Given the description of an element on the screen output the (x, y) to click on. 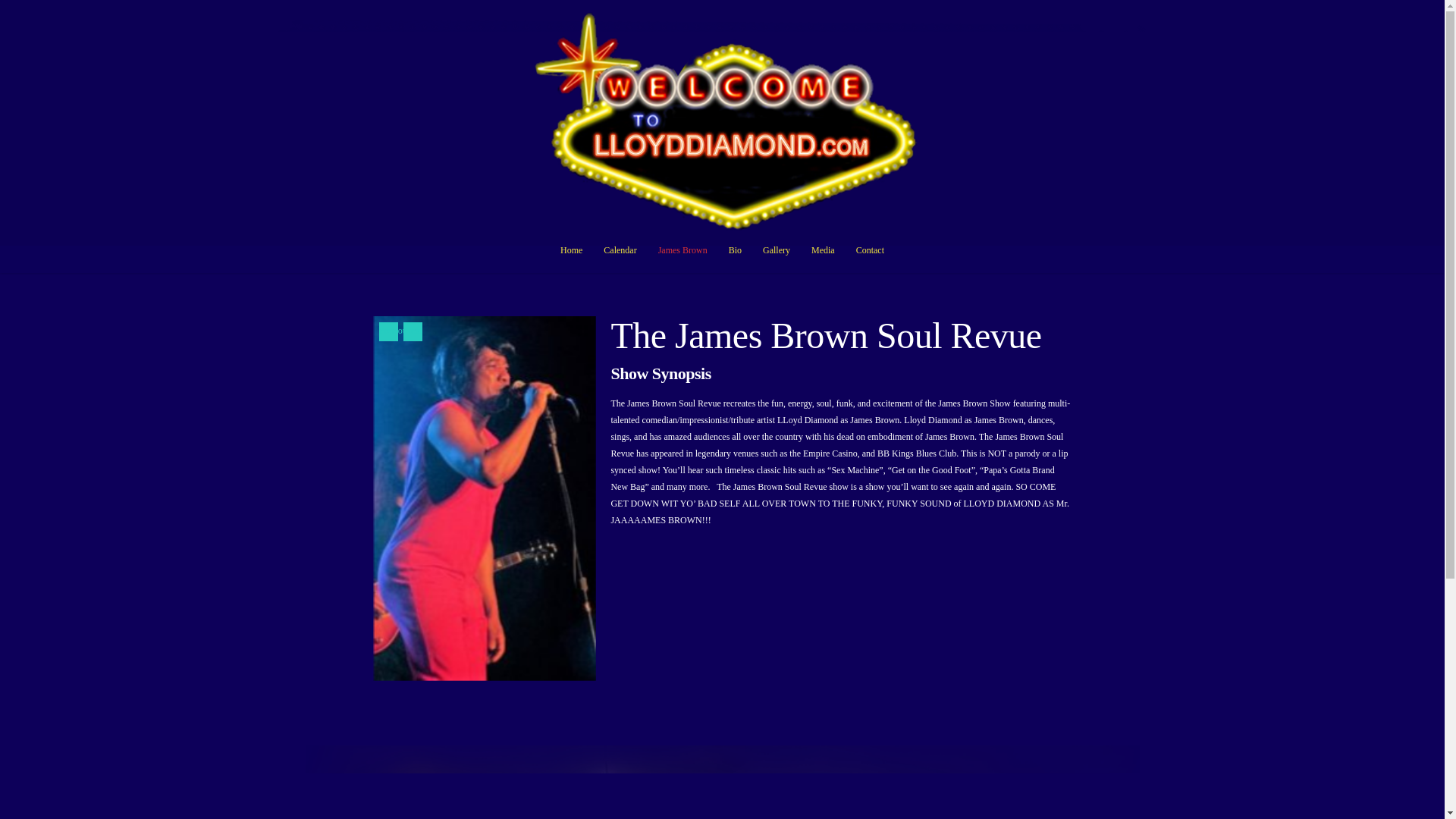
Calendar (620, 257)
Home (571, 257)
Contact (869, 257)
James Brown (682, 257)
Gallery (775, 257)
Bio (735, 257)
Previous (387, 331)
Media (823, 257)
Next (412, 331)
